Given the description of an element on the screen output the (x, y) to click on. 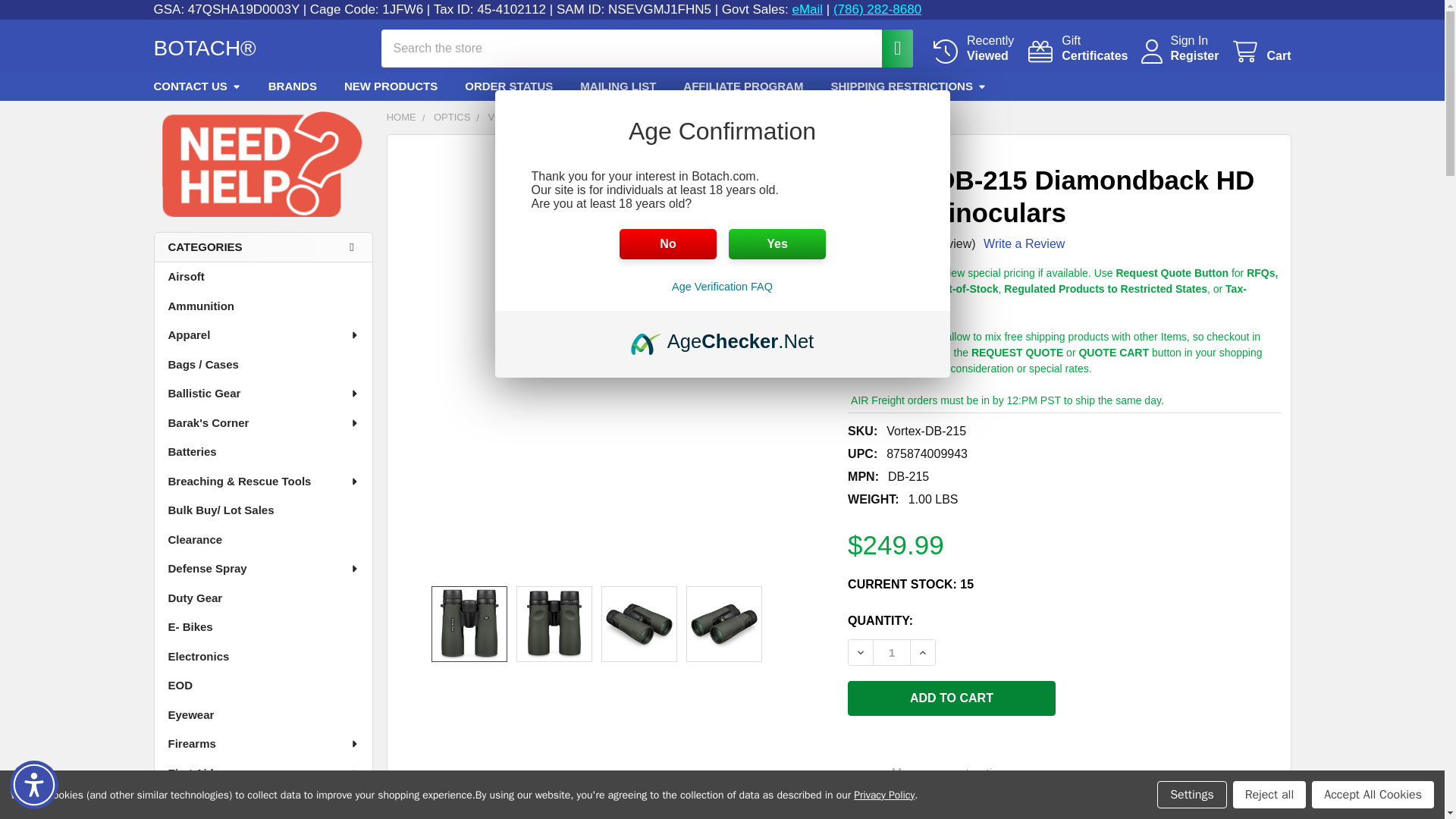
Accessibility Menu (34, 784)
eMail (807, 9)
Recently Viewed (1076, 48)
Cart (972, 48)
1 (972, 48)
Search (1260, 51)
Gift Certificates (891, 652)
Search (889, 47)
Cart (1076, 48)
Register (889, 47)
Add to Cart (1260, 51)
Sign In (1194, 55)
